Given the description of an element on the screen output the (x, y) to click on. 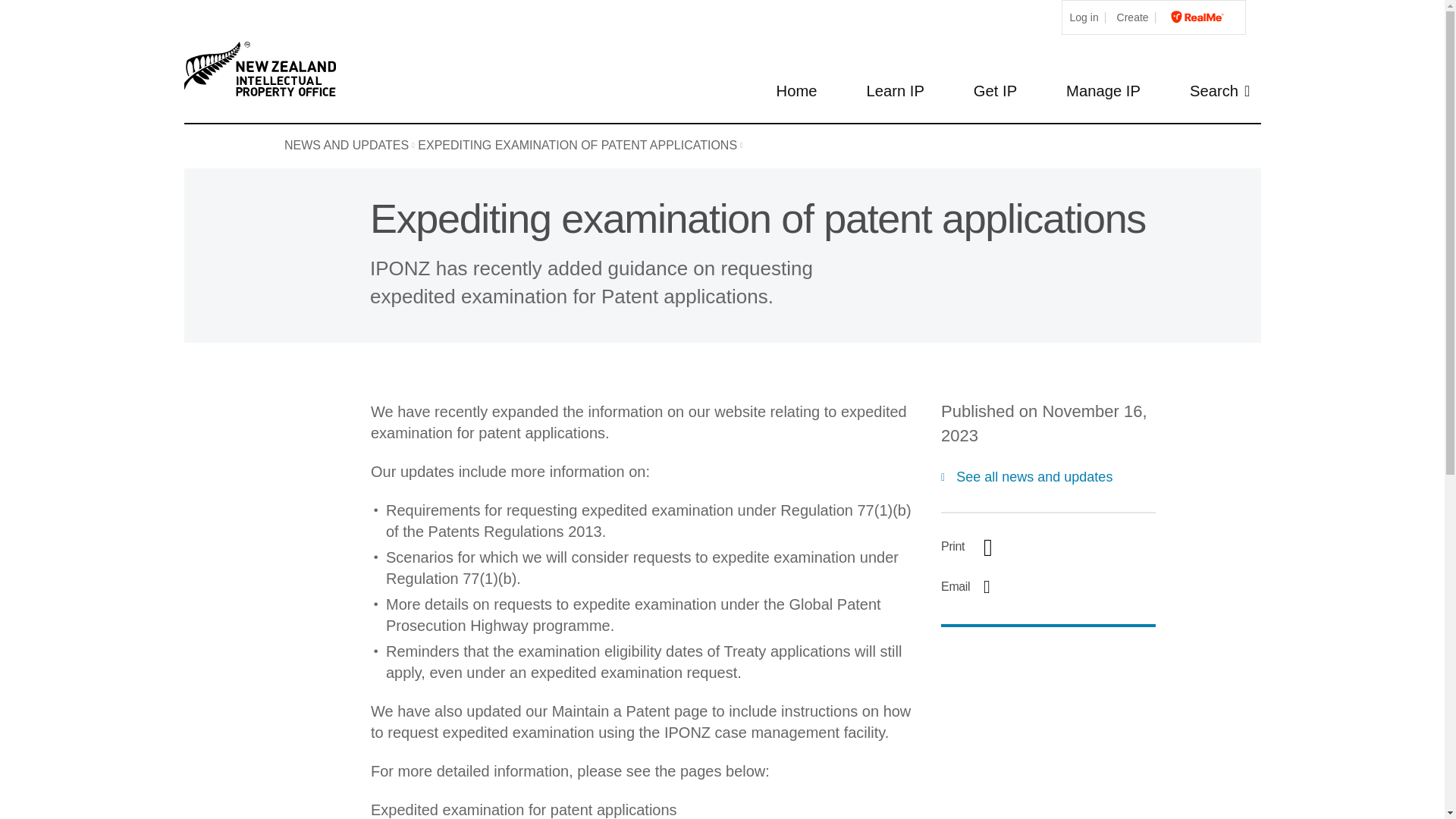
Get IP (994, 91)
Intellectual Property Office of New Zealand (261, 68)
Manage IP (1103, 91)
Create (1132, 18)
Home (796, 91)
Search (1219, 91)
Log in (1084, 18)
See all news and updates (1026, 477)
NEWS AND UPDATES (348, 145)
